Given the description of an element on the screen output the (x, y) to click on. 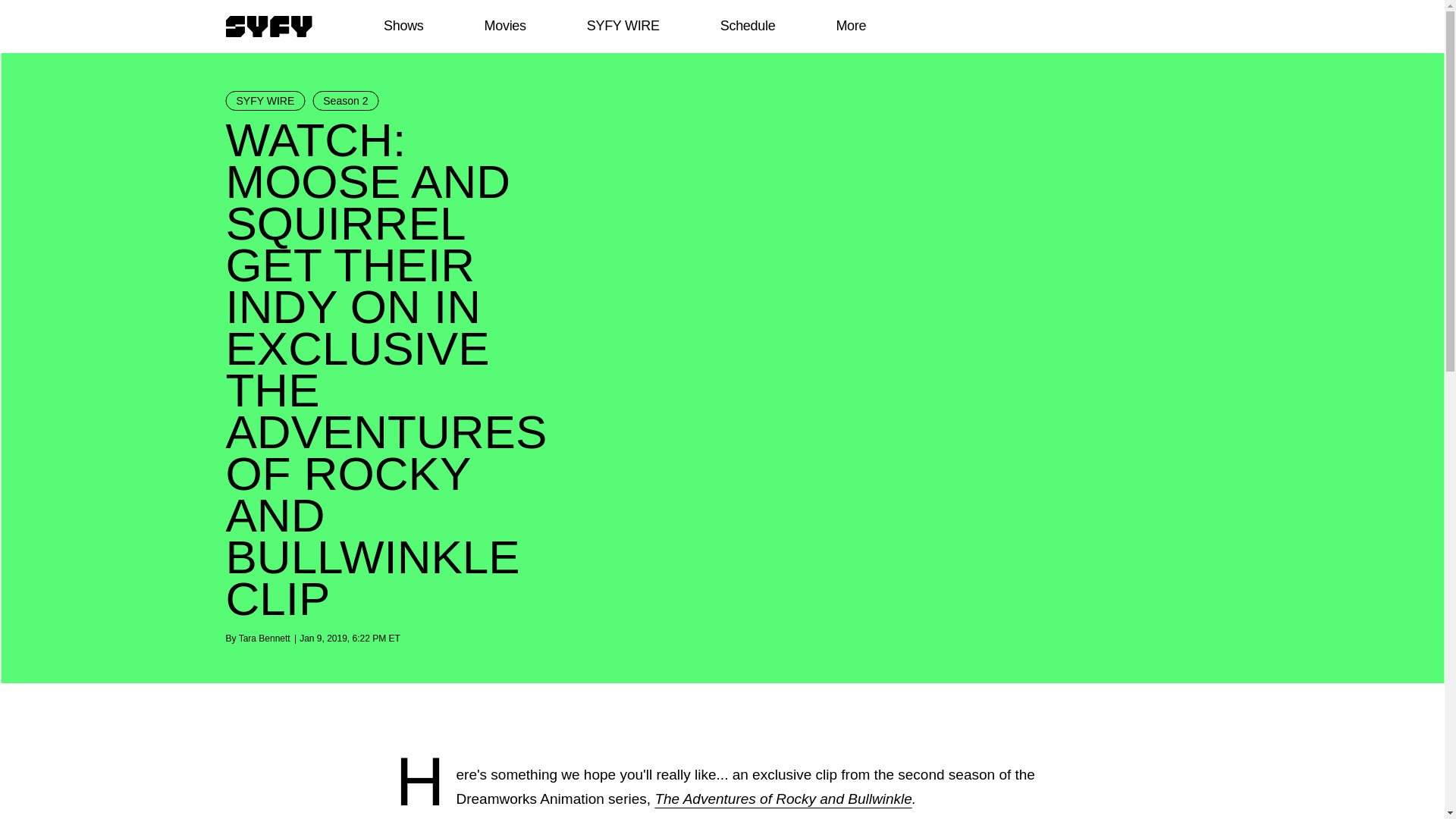
Shows (403, 26)
Movies (504, 26)
Tara Bennett (263, 638)
Schedule (746, 26)
Season 2 (345, 100)
SYFY WIRE (265, 100)
More (850, 26)
The Adventures of Rocky and Bullwinkle (782, 798)
SYFY WIRE (622, 26)
